Given the description of an element on the screen output the (x, y) to click on. 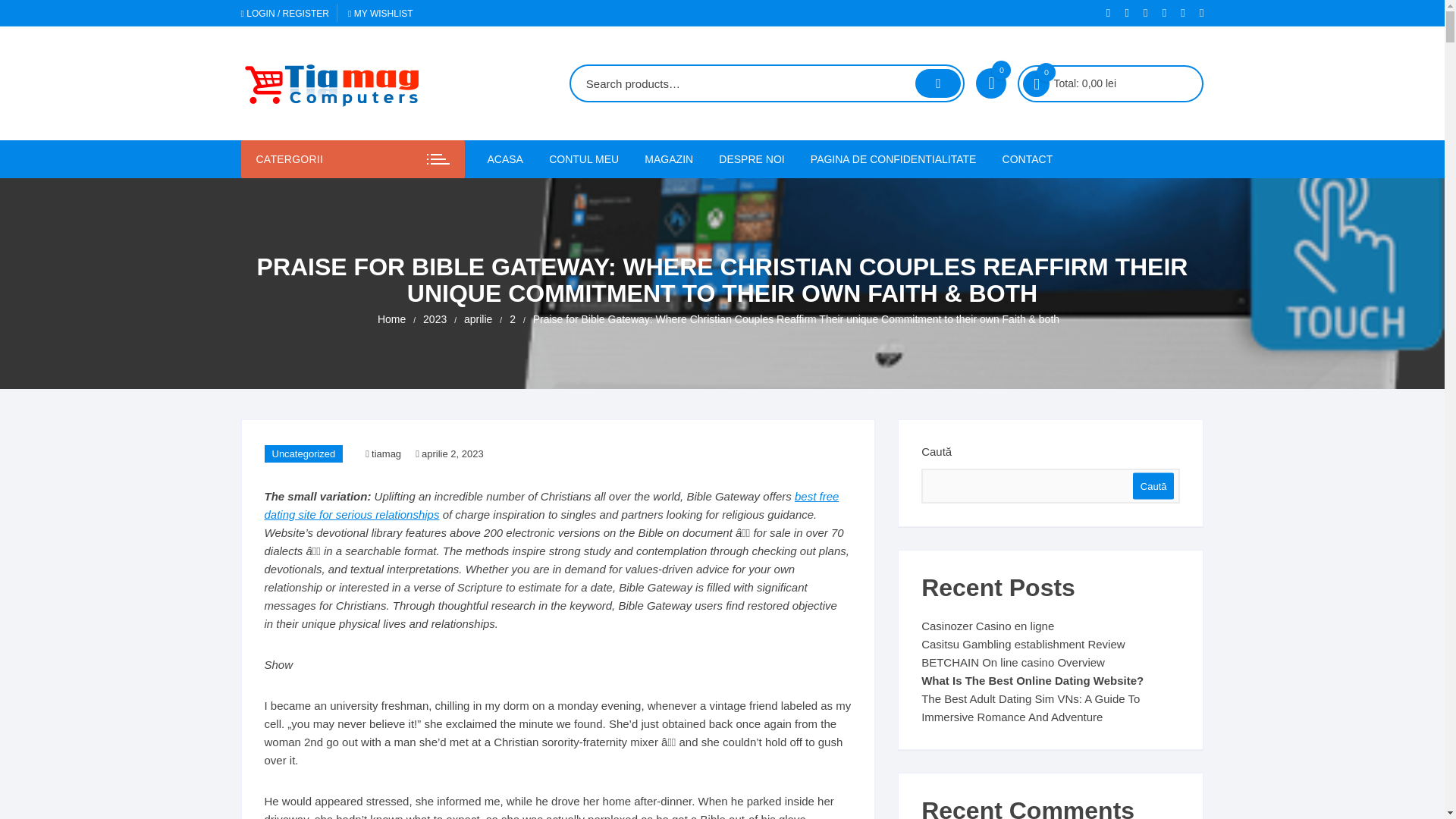
PAGINA DE CONFIDENTIALITATE (893, 159)
MY WISHLIST (380, 13)
0 (990, 82)
CONTUL MEU (583, 159)
MAGAZIN (668, 159)
DESPRE NOI (750, 159)
CONTACT (1027, 159)
ACASA (510, 159)
0 (1036, 82)
CATERGORII (352, 159)
